Given the description of an element on the screen output the (x, y) to click on. 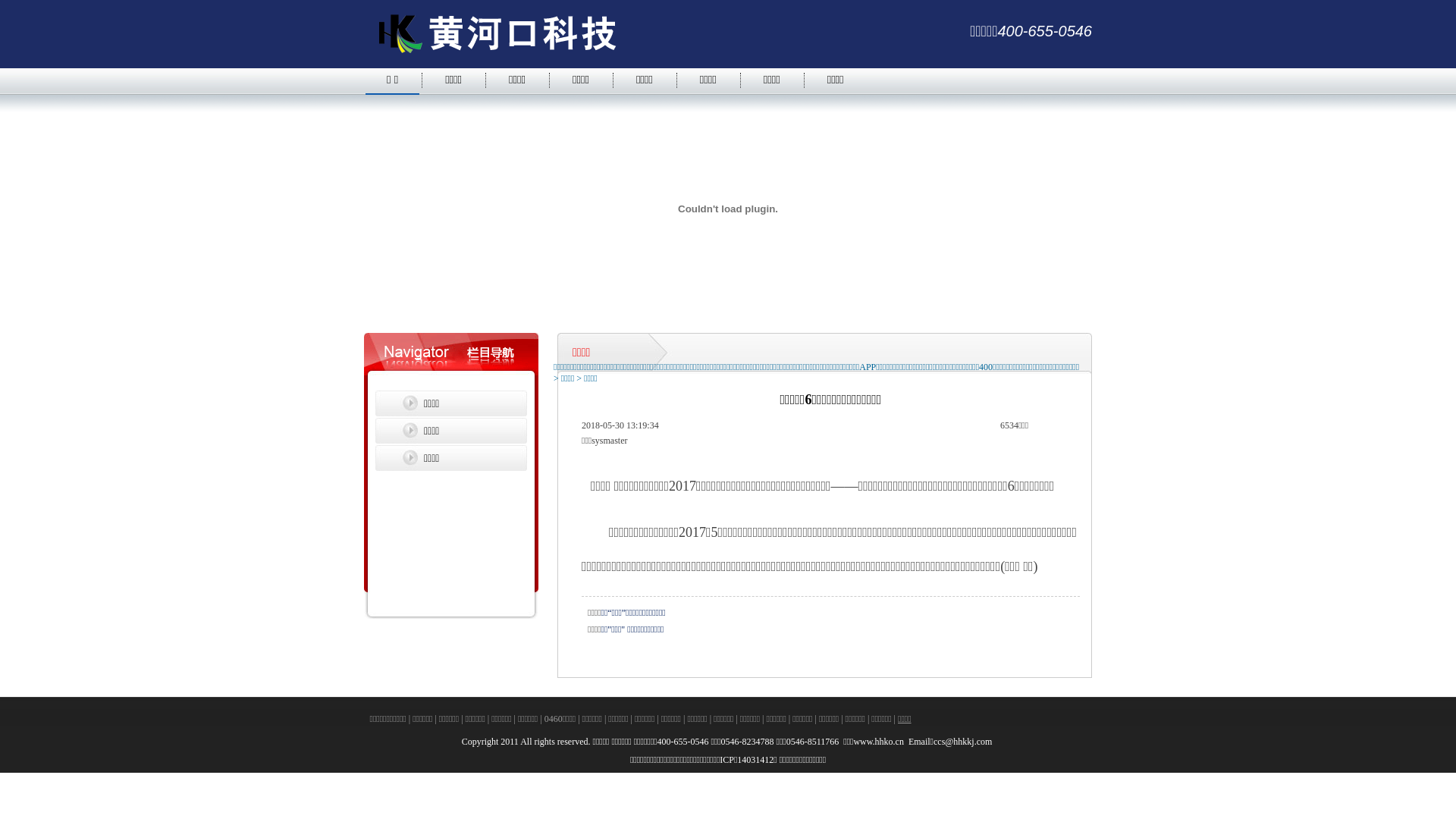
ccs@hhkkj.com  Element type: text (963, 741)
